Given the description of an element on the screen output the (x, y) to click on. 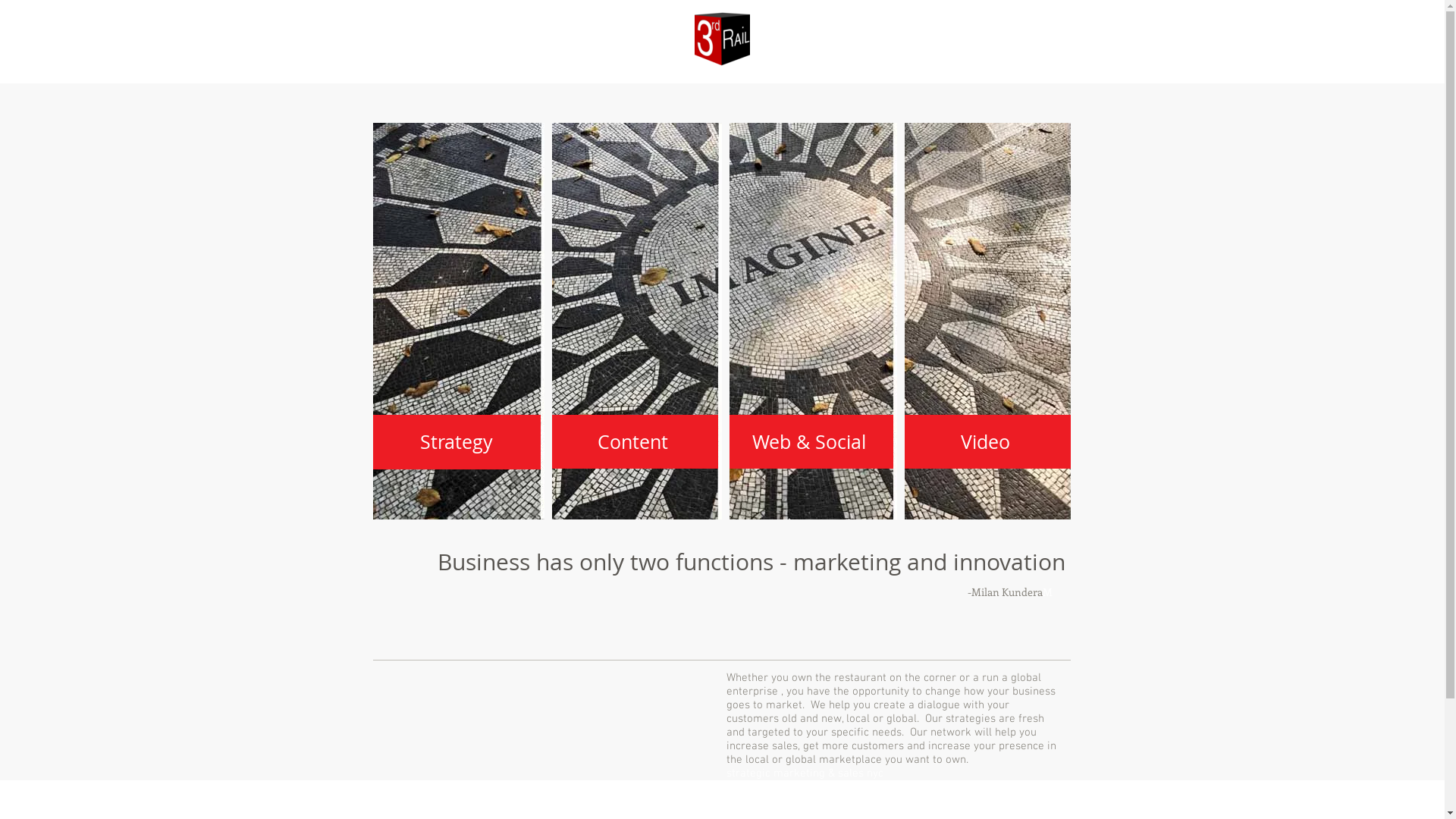
Video Element type: text (985, 441)
Strategic Marketing and Sales NYC Element type: hover (721, 320)
Content Element type: text (632, 441)
Web & Social Element type: text (808, 441)
Strategy Element type: text (456, 441)
